Given the description of an element on the screen output the (x, y) to click on. 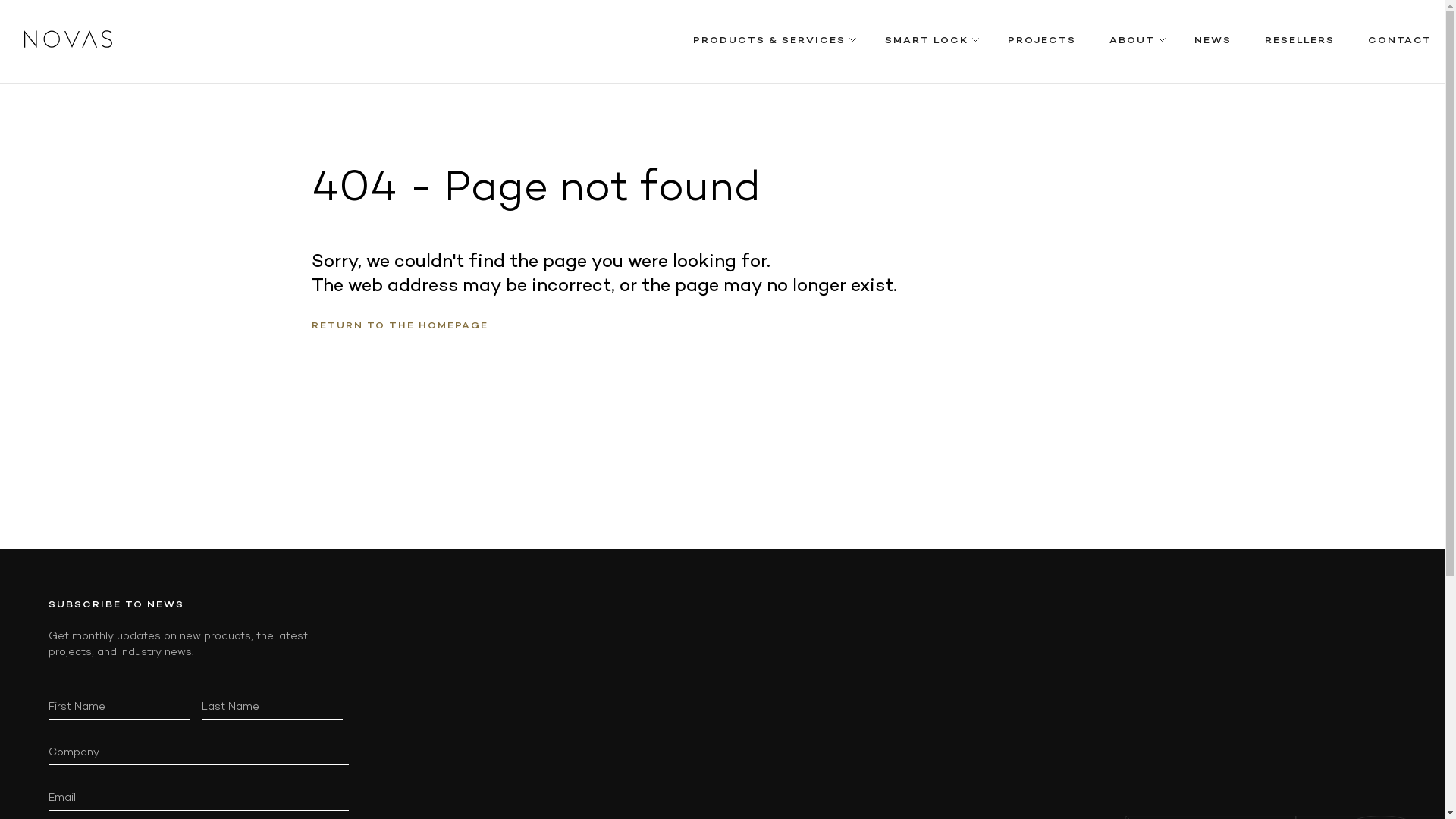
First Name
Last Name
Company
Email Element type: text (198, 753)
ABOUT Element type: text (1131, 41)
CONTACT Element type: text (1399, 41)
NEWS Element type: text (1212, 41)
PROJECTS Element type: text (1041, 41)
RESELLERS Element type: text (1299, 41)
SMART LOCK Element type: text (926, 41)
PRODUCTS & SERVICES Element type: text (769, 41)
RETURN TO THE HOMEPAGE Element type: text (398, 324)
